Given the description of an element on the screen output the (x, y) to click on. 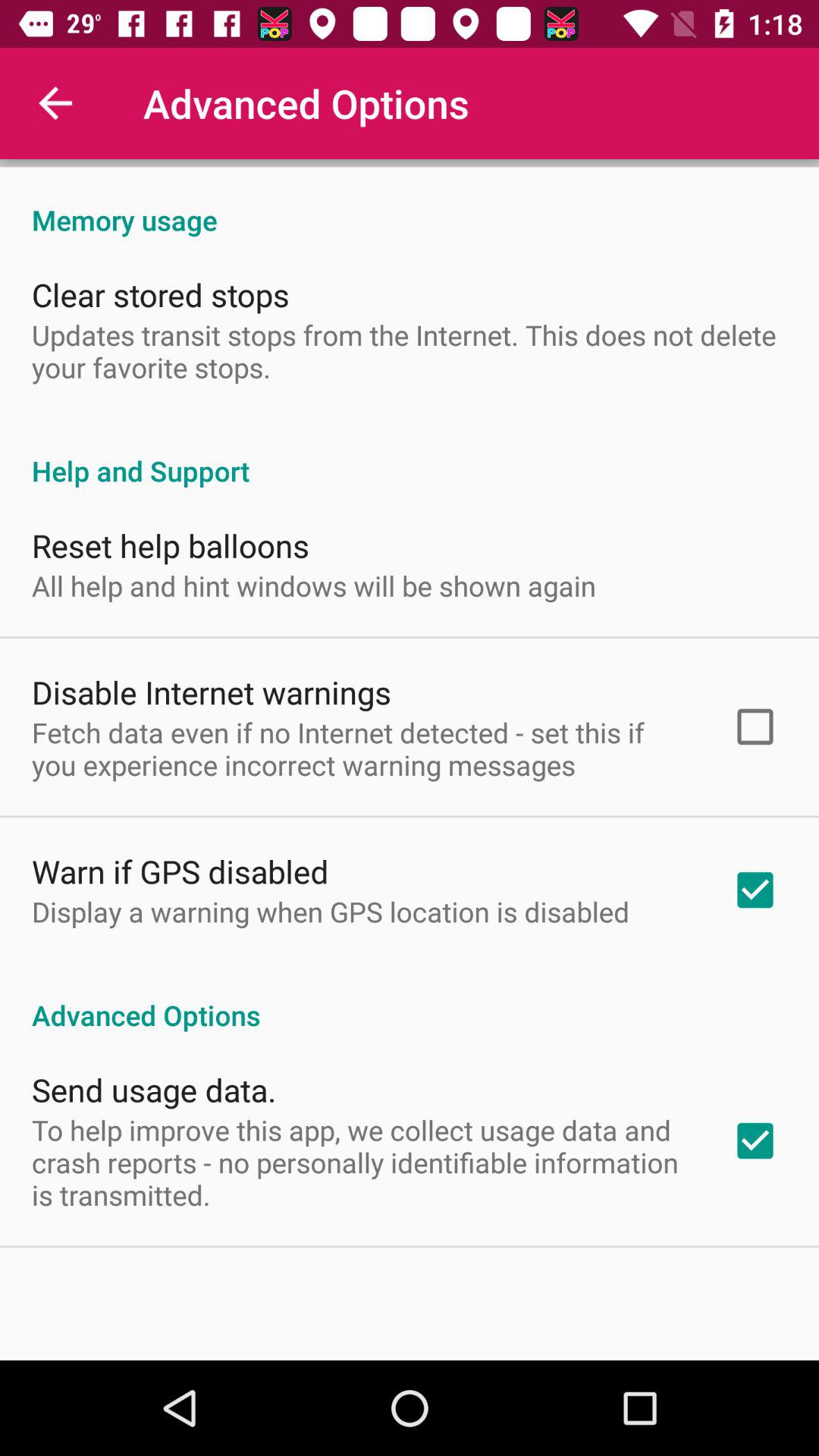
choose icon above the all help and icon (170, 545)
